Given the description of an element on the screen output the (x, y) to click on. 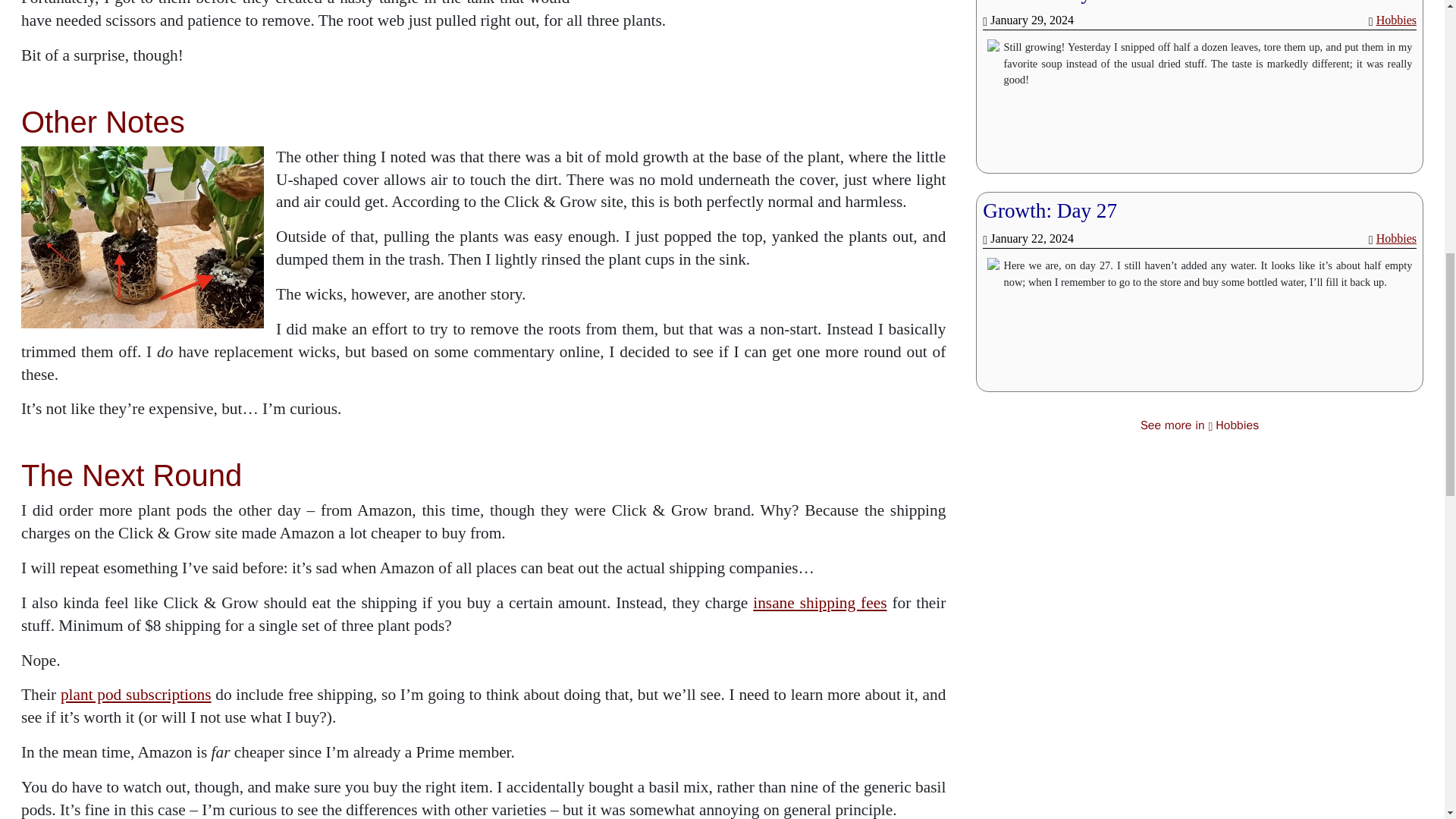
Growth: Day 34 (1049, 2)
plant pod subscriptions (136, 694)
insane shipping fees (819, 602)
